Given the description of an element on the screen output the (x, y) to click on. 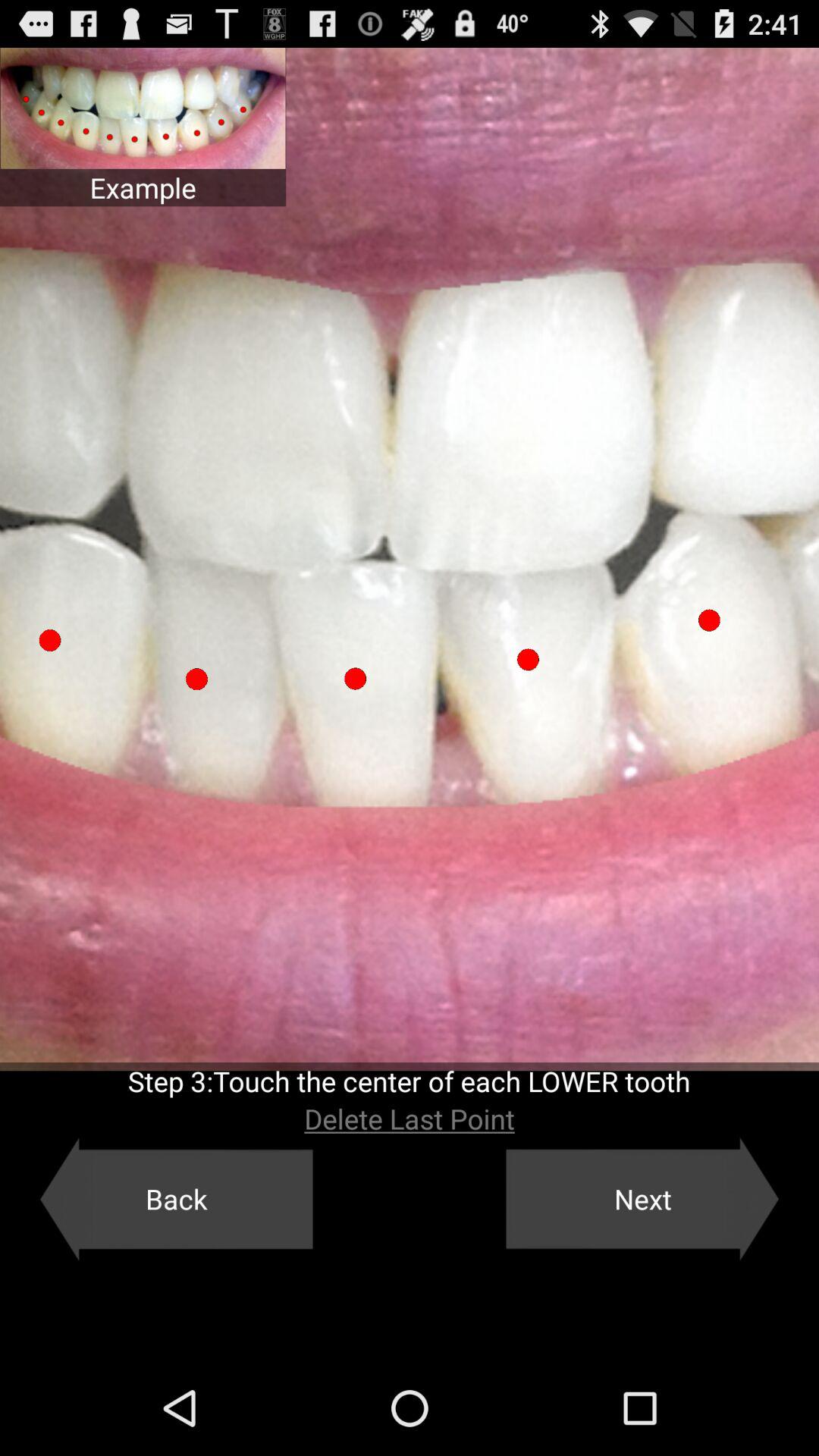
tap the back icon (175, 1198)
